Given the description of an element on the screen output the (x, y) to click on. 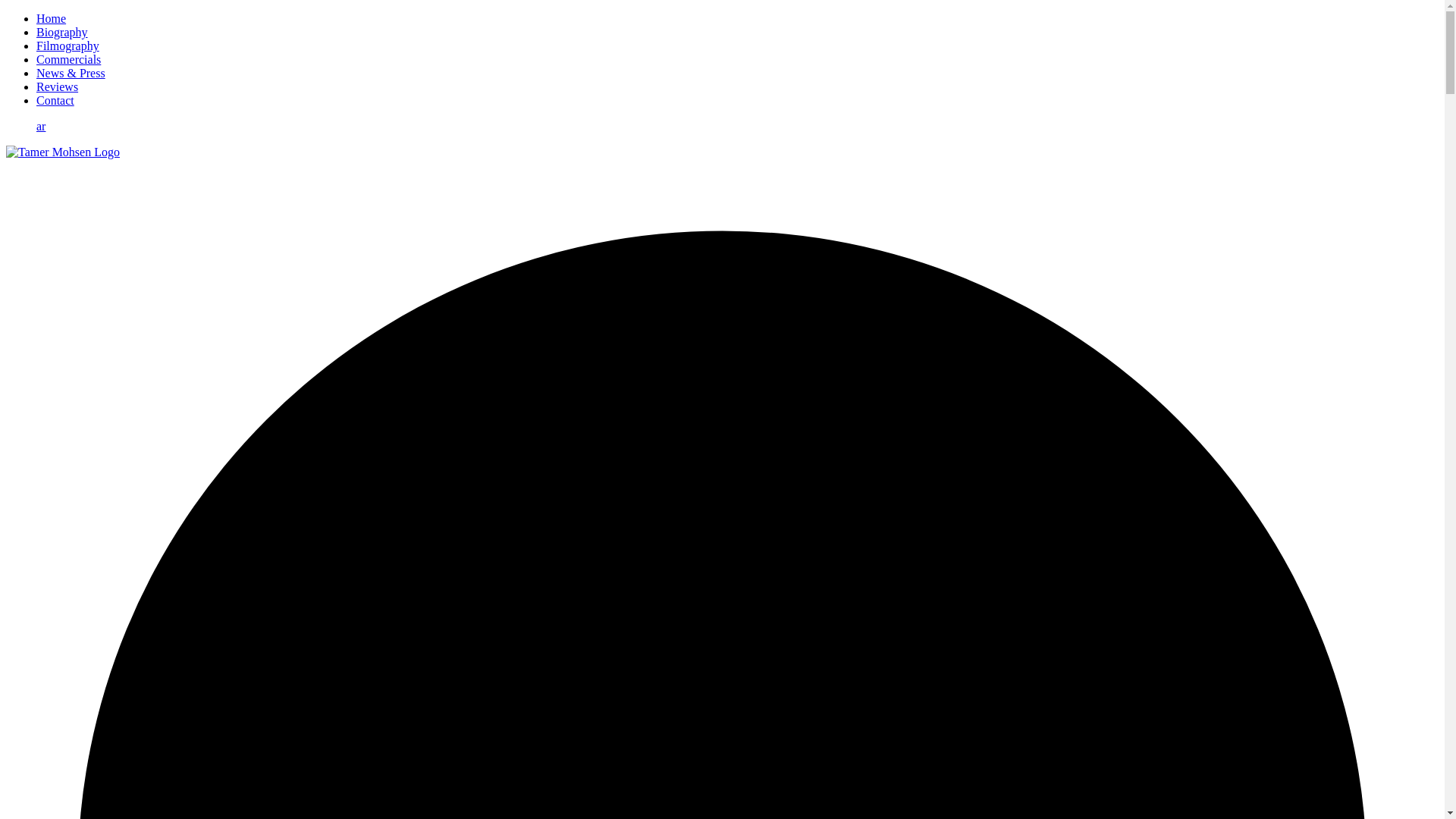
Contact (55, 100)
Filmography (67, 45)
Biography (61, 31)
Tamer Mohsen Homepage (62, 151)
Commercials (68, 59)
Reviews (57, 86)
Home (50, 18)
